Given the description of an element on the screen output the (x, y) to click on. 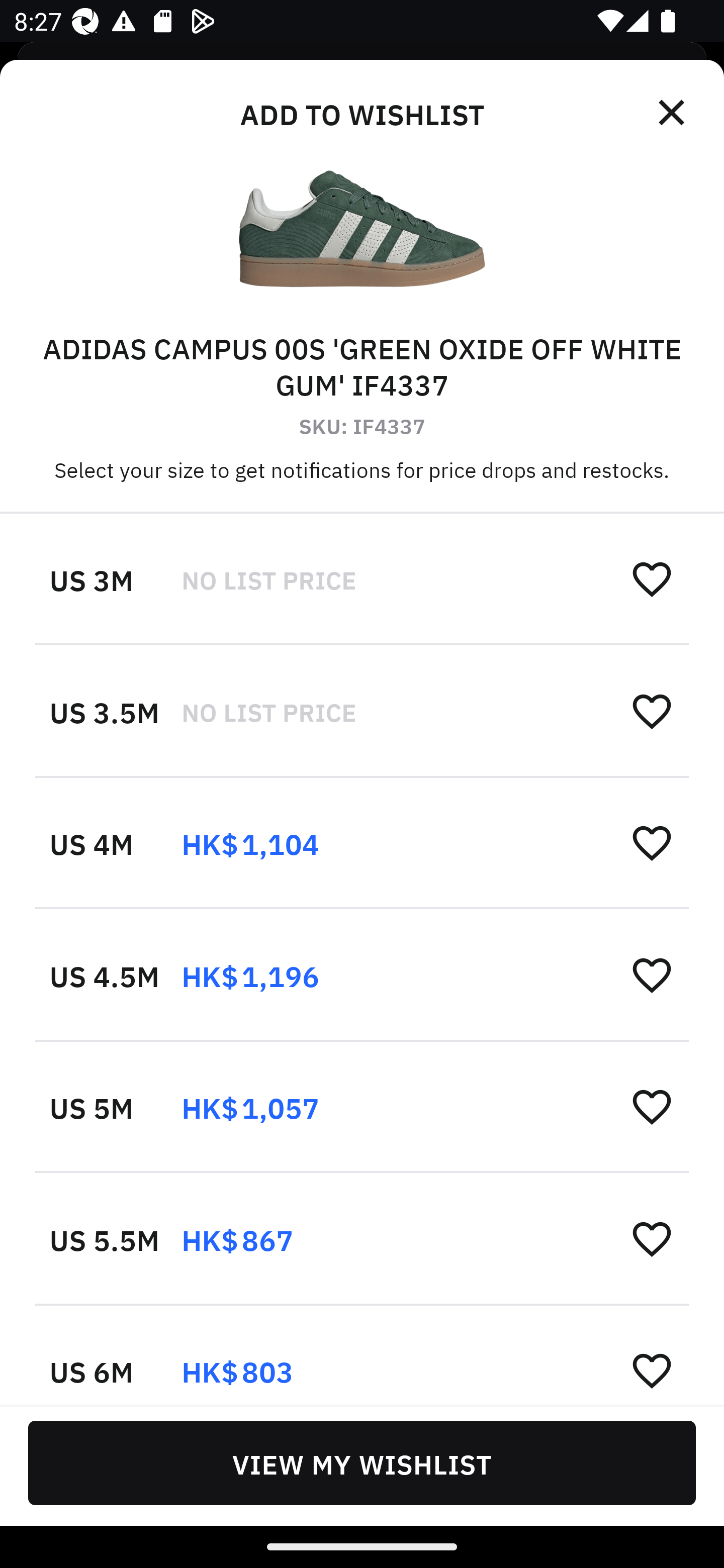
 (672, 112)
󰋕 (651, 578)
󰋕 (651, 710)
󰋕 (651, 842)
󰋕 (651, 974)
󰋕 (651, 1105)
󰋕 (651, 1237)
󰋕 (651, 1369)
VIEW MY WISHLIST (361, 1462)
